Given the description of an element on the screen output the (x, y) to click on. 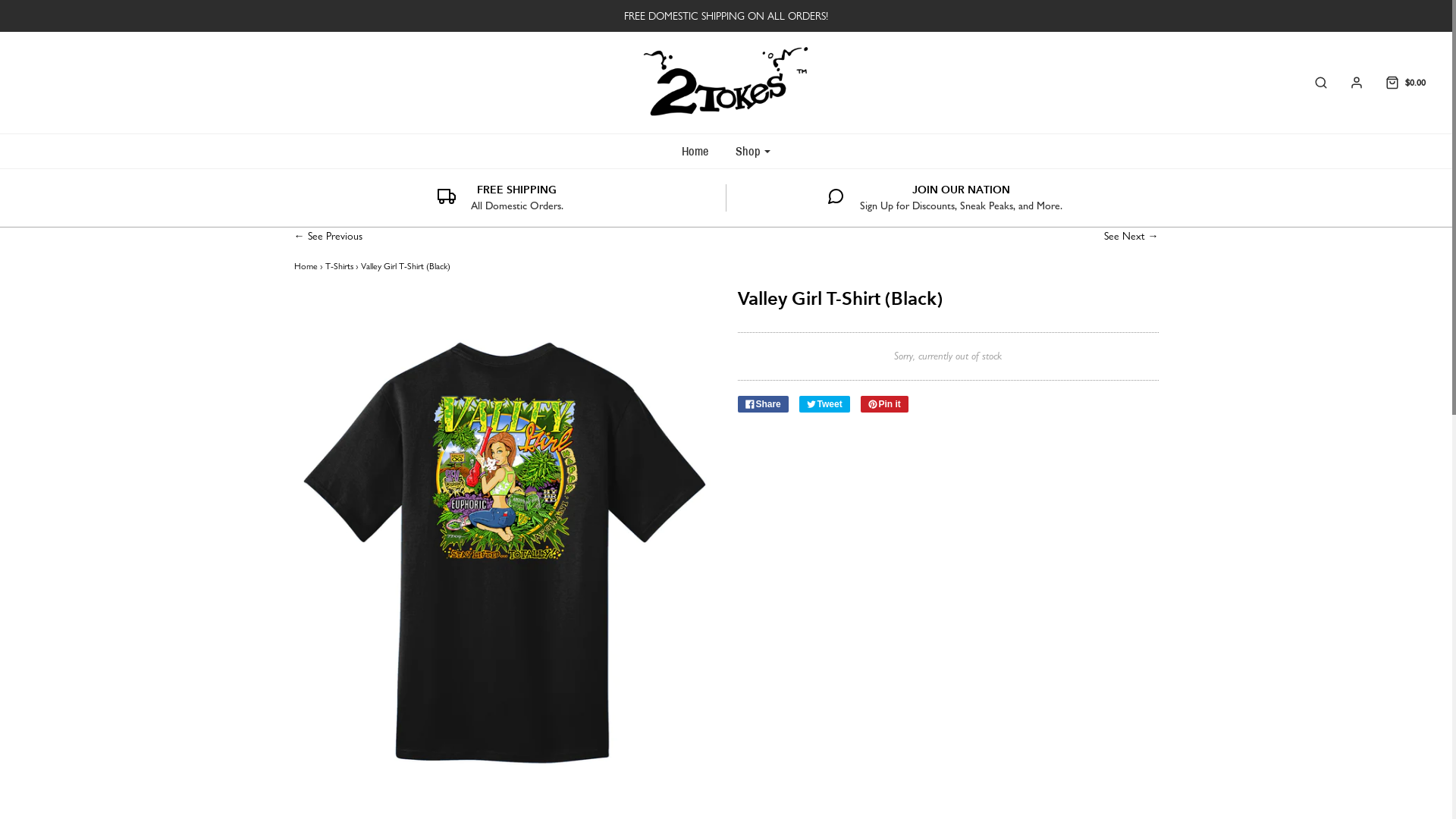
Share Element type: text (762, 403)
$0.00 Element type: text (1396, 82)
Search Element type: hover (1434, 7)
Home Element type: text (694, 151)
Home Element type: text (305, 265)
Tweet Element type: text (824, 403)
Log in Element type: hover (1348, 82)
Shop Element type: text (752, 151)
Search Element type: hover (1313, 82)
Pin it Element type: text (884, 403)
T-Shirts Element type: text (338, 265)
